Given the description of an element on the screen output the (x, y) to click on. 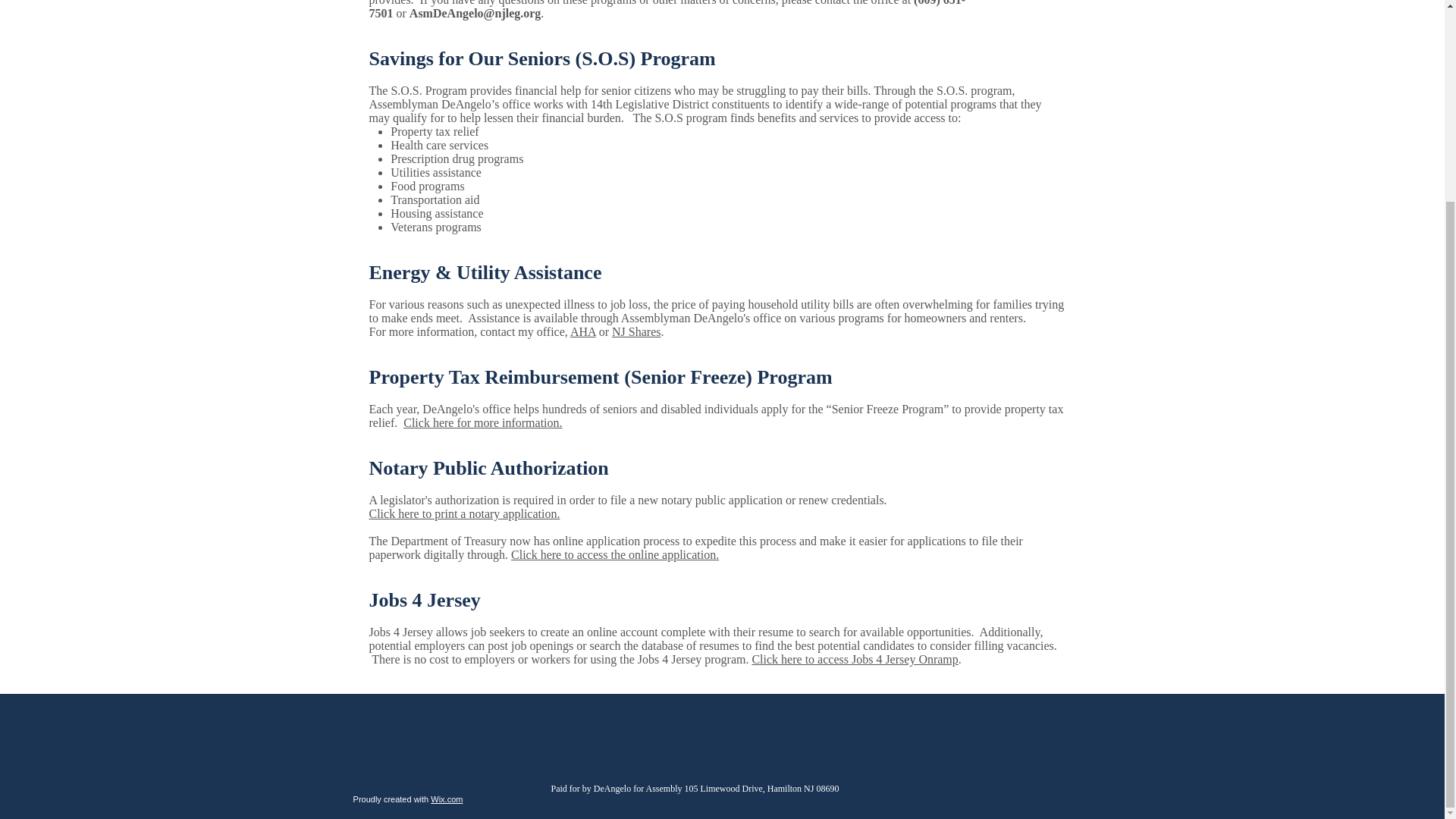
Click here for more information. (482, 422)
Wix.com (446, 798)
Click here to access Jobs 4 Jersey Onramp (854, 658)
Click here to access the online application. (615, 554)
AHA (582, 331)
Click here to print a notary application. (463, 513)
NJ Shares (636, 331)
